Given the description of an element on the screen output the (x, y) to click on. 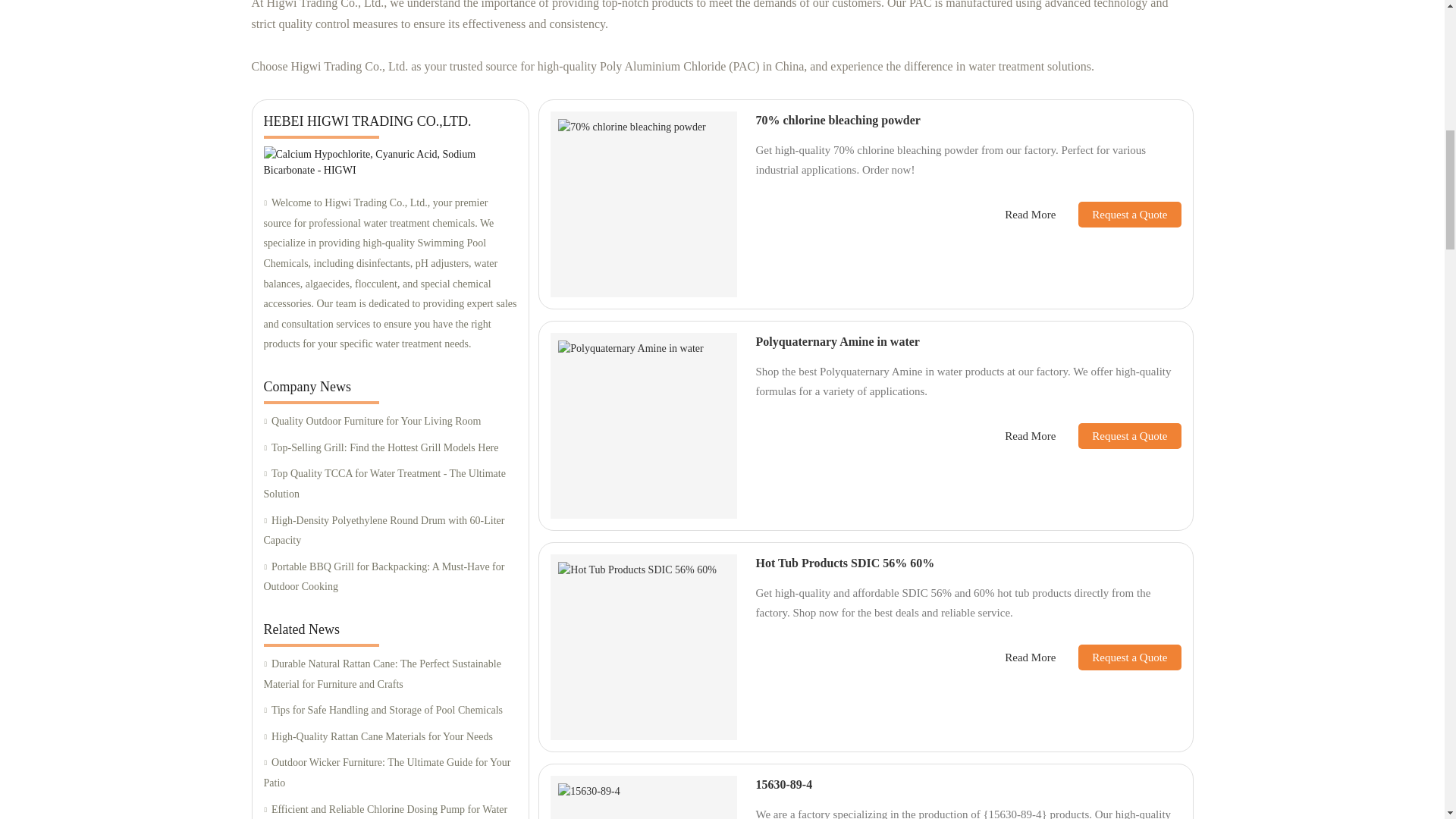
High-Density Polyethylene Round Drum with 60-Liter Capacity (389, 531)
Top Quality TCCA for Water Treatment - The Ultimate Solution (389, 484)
Tips for Safe Handling and Storage of Pool Chemicals (389, 711)
High-Quality Rattan Cane Materials for Your Needs (389, 737)
Outdoor Wicker Furniture: The Ultimate Guide for Your Patio (389, 772)
Read More (1029, 214)
Top-Selling Grill: Find the Hottest Grill Models Here (389, 448)
Quality Outdoor Furniture for Your Living Room (389, 421)
Request a Quote (1117, 214)
